Given the description of an element on the screen output the (x, y) to click on. 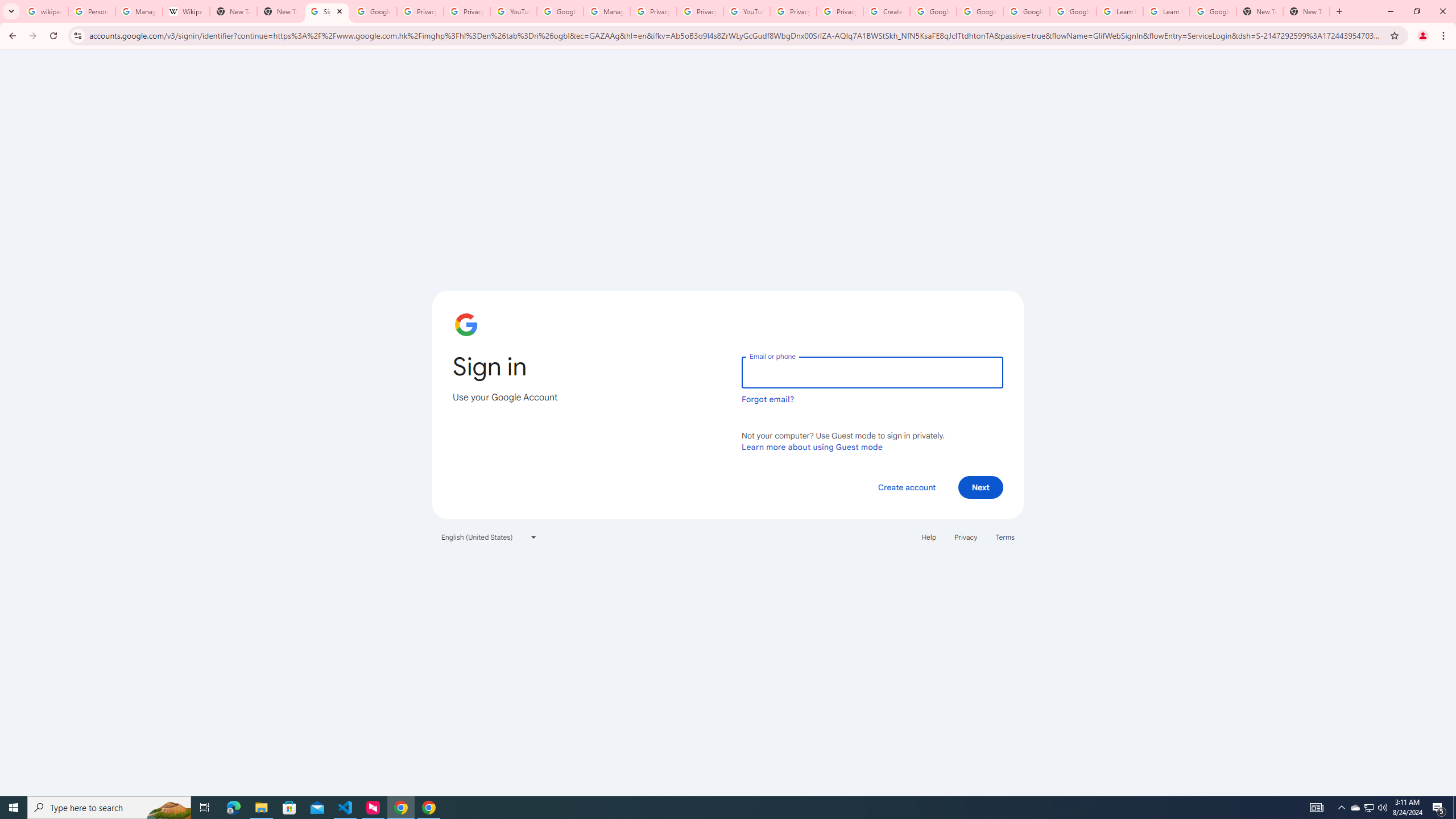
Google Account Help (980, 11)
Learn more about using Guest mode (812, 446)
Create account (905, 486)
New Tab (279, 11)
English (United States) (489, 536)
Google Account Help (933, 11)
